Given the description of an element on the screen output the (x, y) to click on. 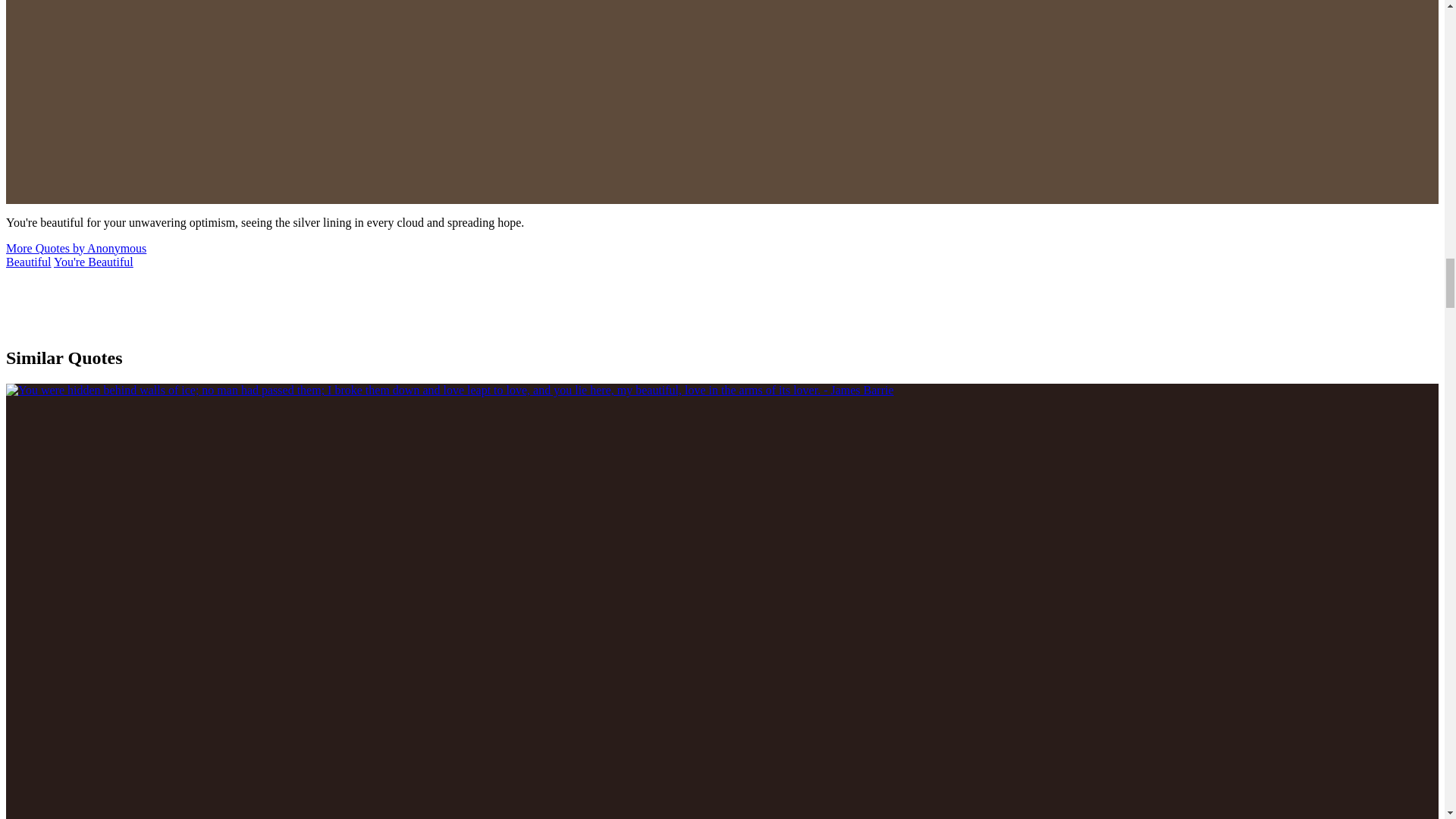
see quote (449, 390)
